Given the description of an element on the screen output the (x, y) to click on. 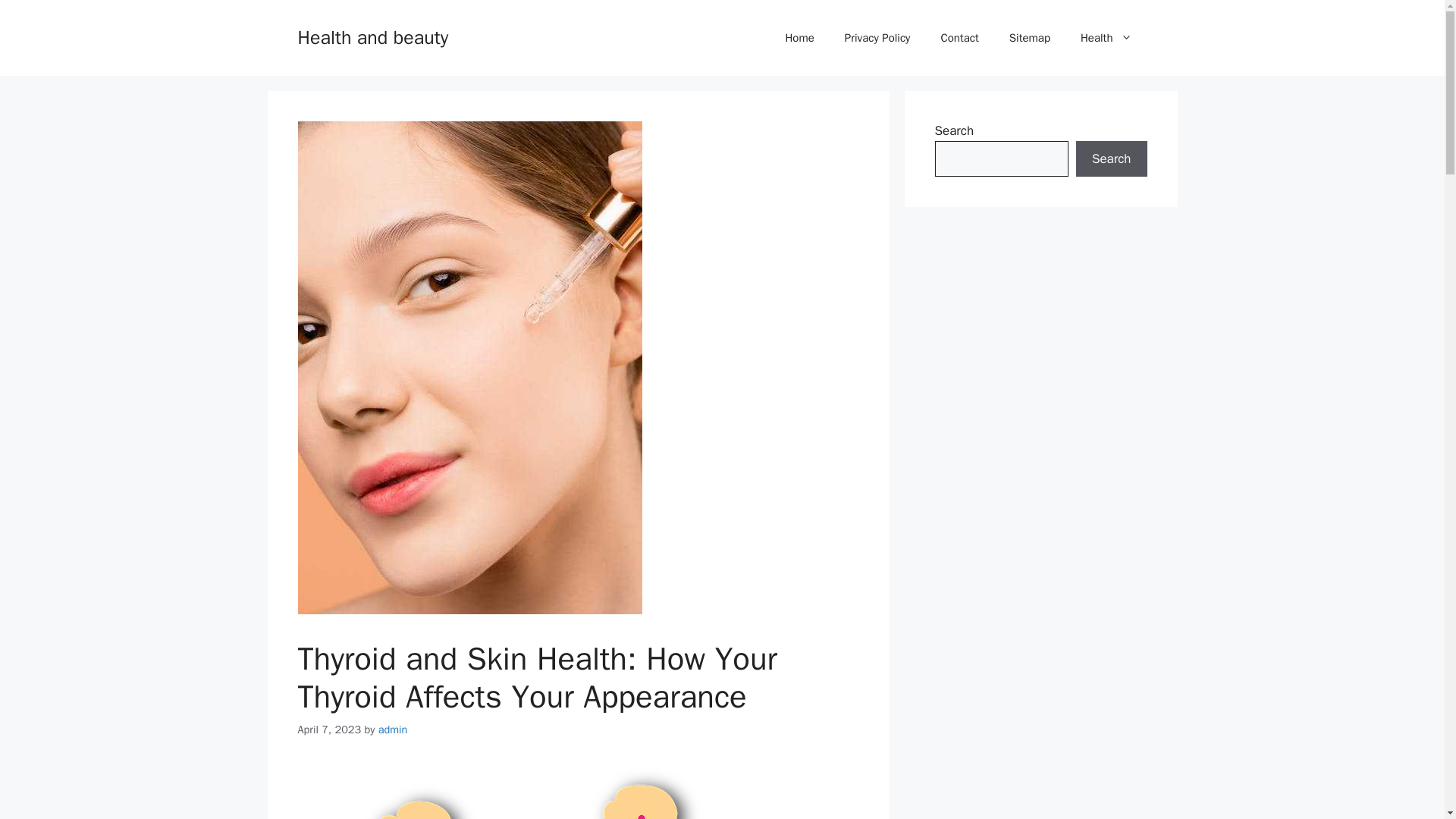
admin (392, 729)
Search (1111, 158)
Privacy Policy (877, 37)
Home (799, 37)
Health (1106, 37)
Health and beauty (372, 37)
Sitemap (1029, 37)
View all posts by admin (392, 729)
Contact (958, 37)
